Given the description of an element on the screen output the (x, y) to click on. 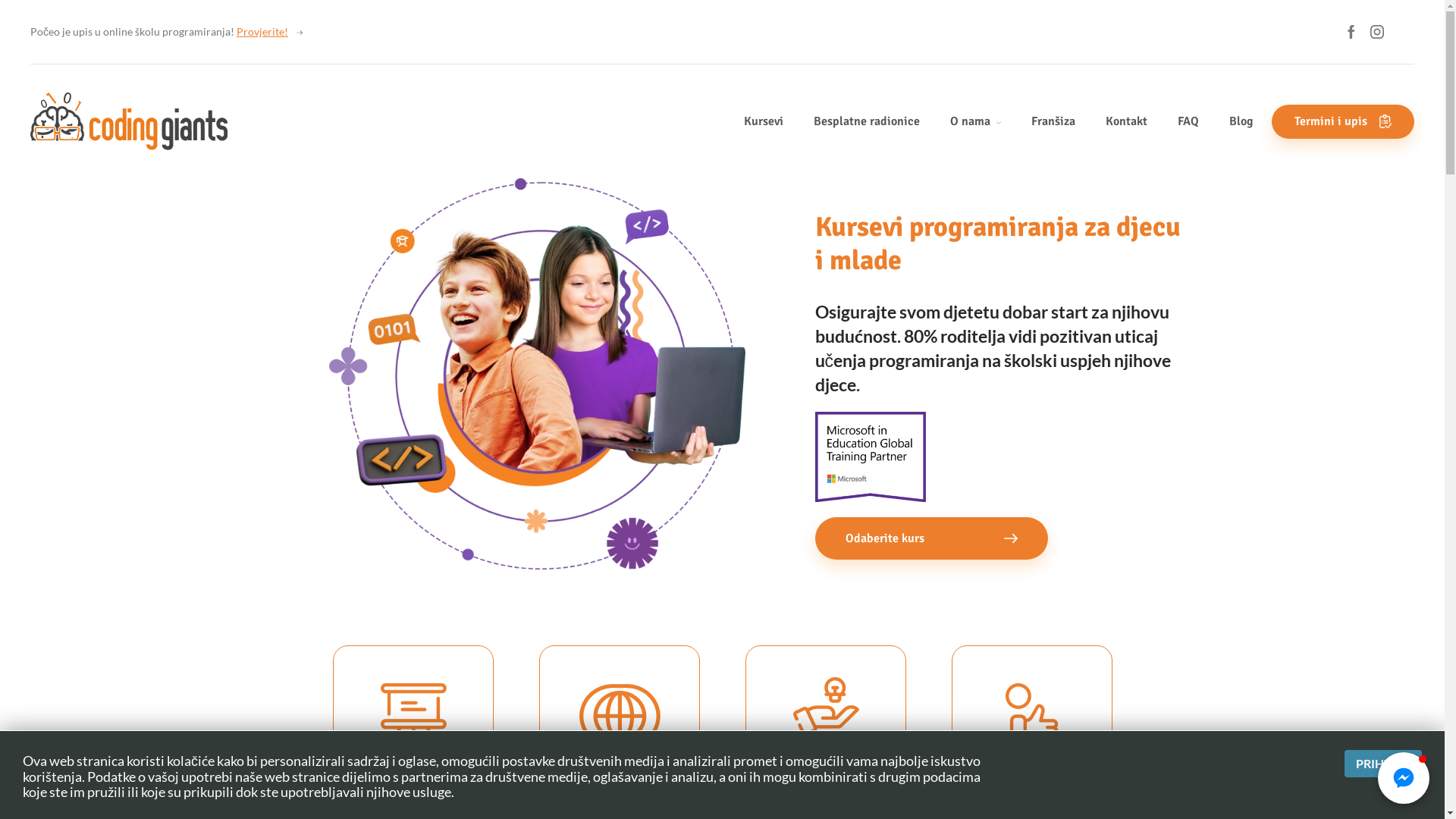
Termini i upis Element type: text (1342, 121)
Provjerite! Element type: text (262, 31)
FAQ Element type: text (1187, 120)
Odaberite kurs Element type: text (930, 538)
Blog Element type: text (1241, 120)
PRIHVATI Element type: text (1382, 763)
Kontakt Element type: text (1126, 120)
O nama Element type: text (970, 120)
Besplatne radionice Element type: text (866, 120)
Kursevi Element type: text (763, 120)
